Given the description of an element on the screen output the (x, y) to click on. 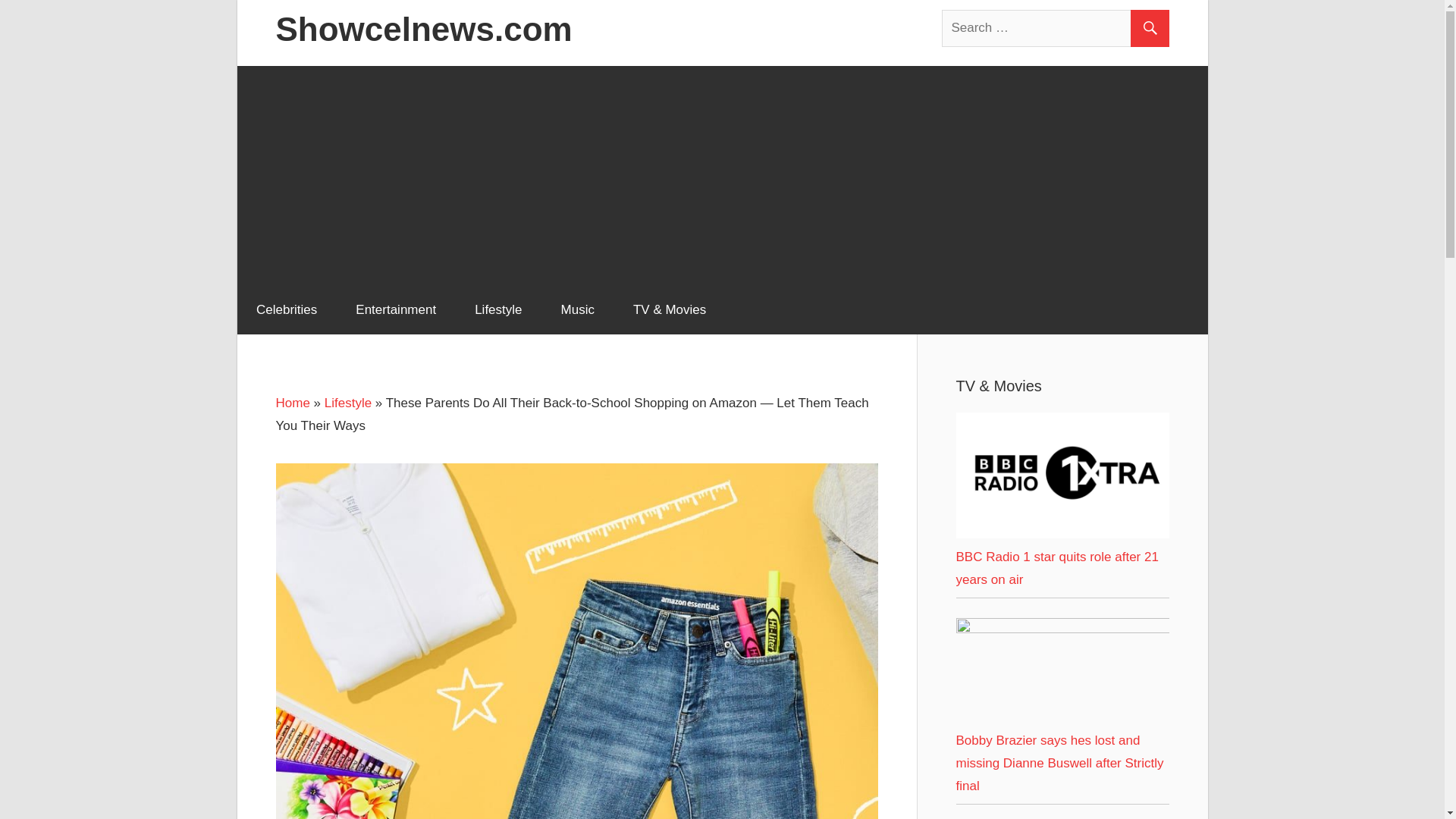
Showcelnews.com (424, 28)
Lifestyle (498, 309)
Celebrities (285, 309)
Entertainment (395, 309)
Home (293, 402)
Music (576, 309)
BBC Radio 1 star quits role after 21 years on air (1056, 568)
